Given the description of an element on the screen output the (x, y) to click on. 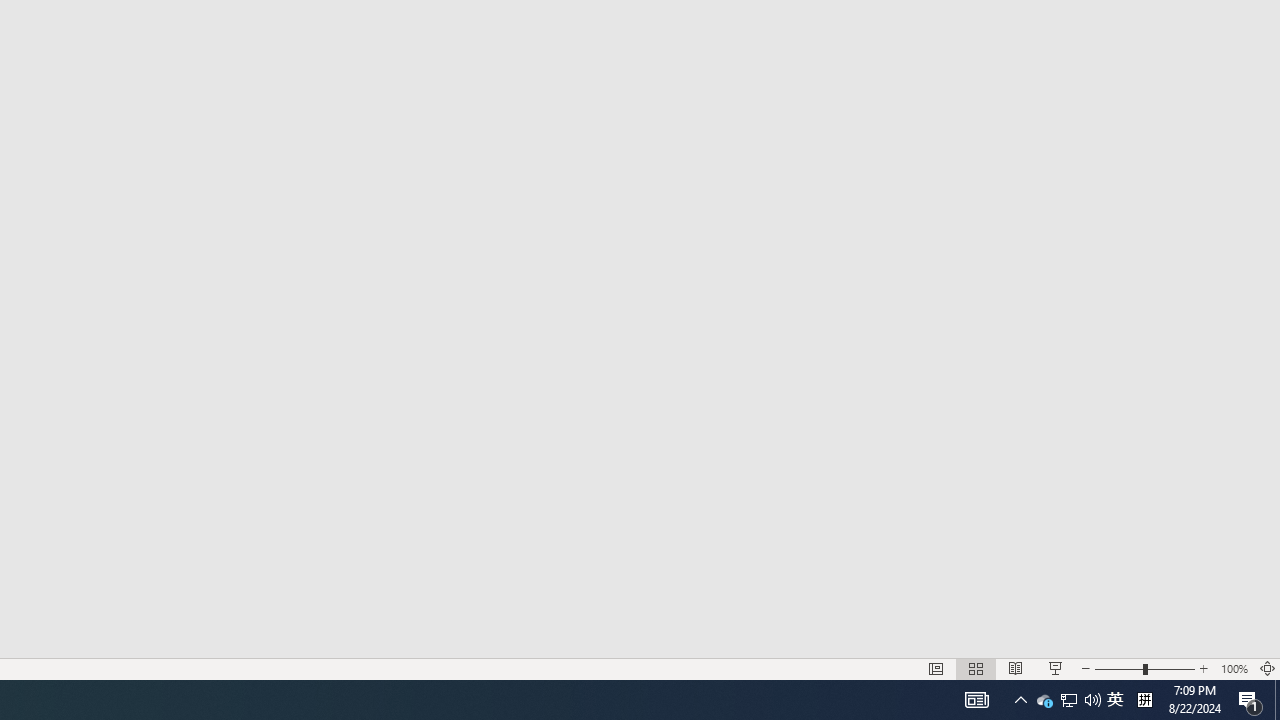
Zoom 100% (1234, 668)
